Given the description of an element on the screen output the (x, y) to click on. 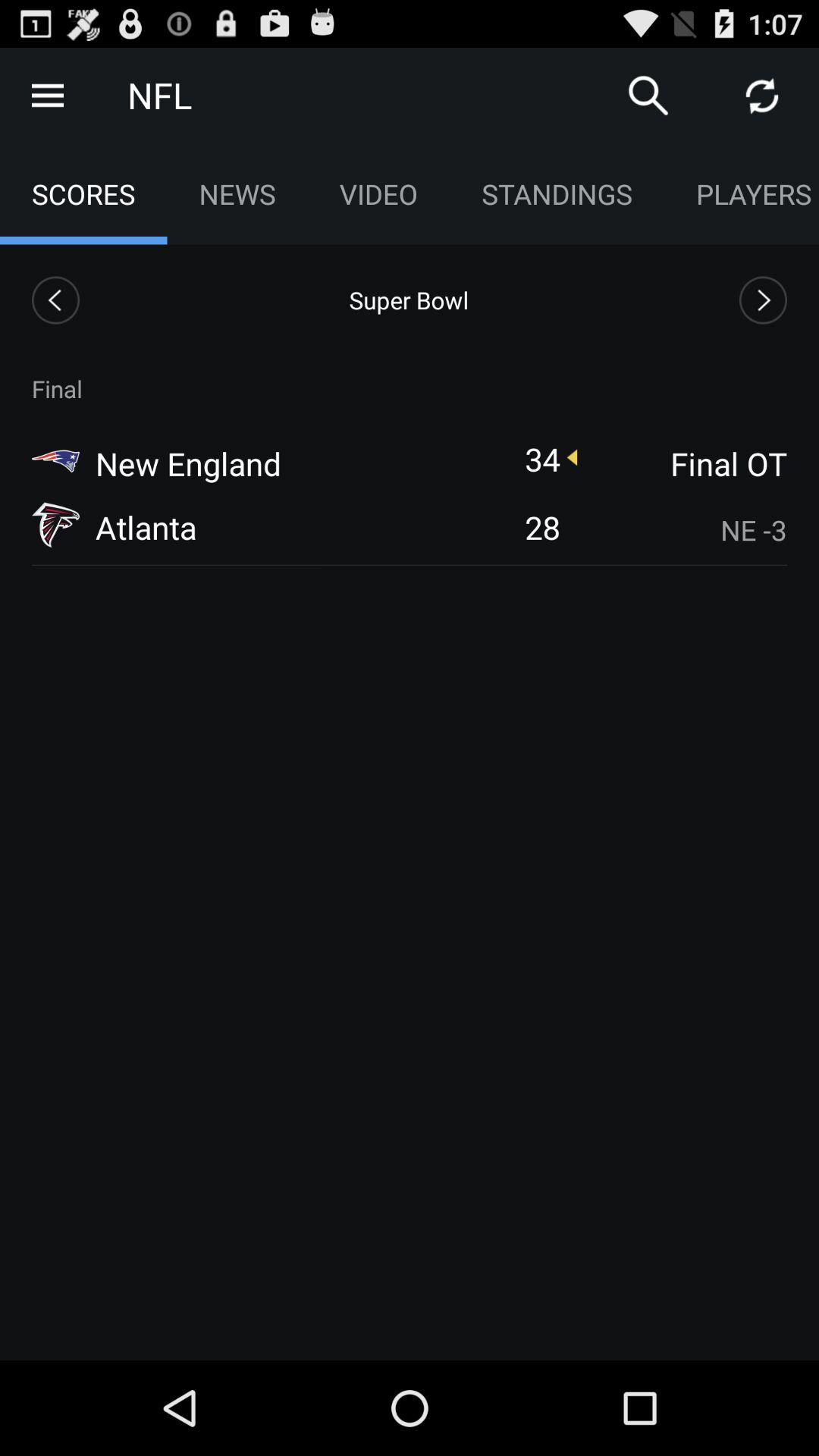
refresh (762, 95)
